Given the description of an element on the screen output the (x, y) to click on. 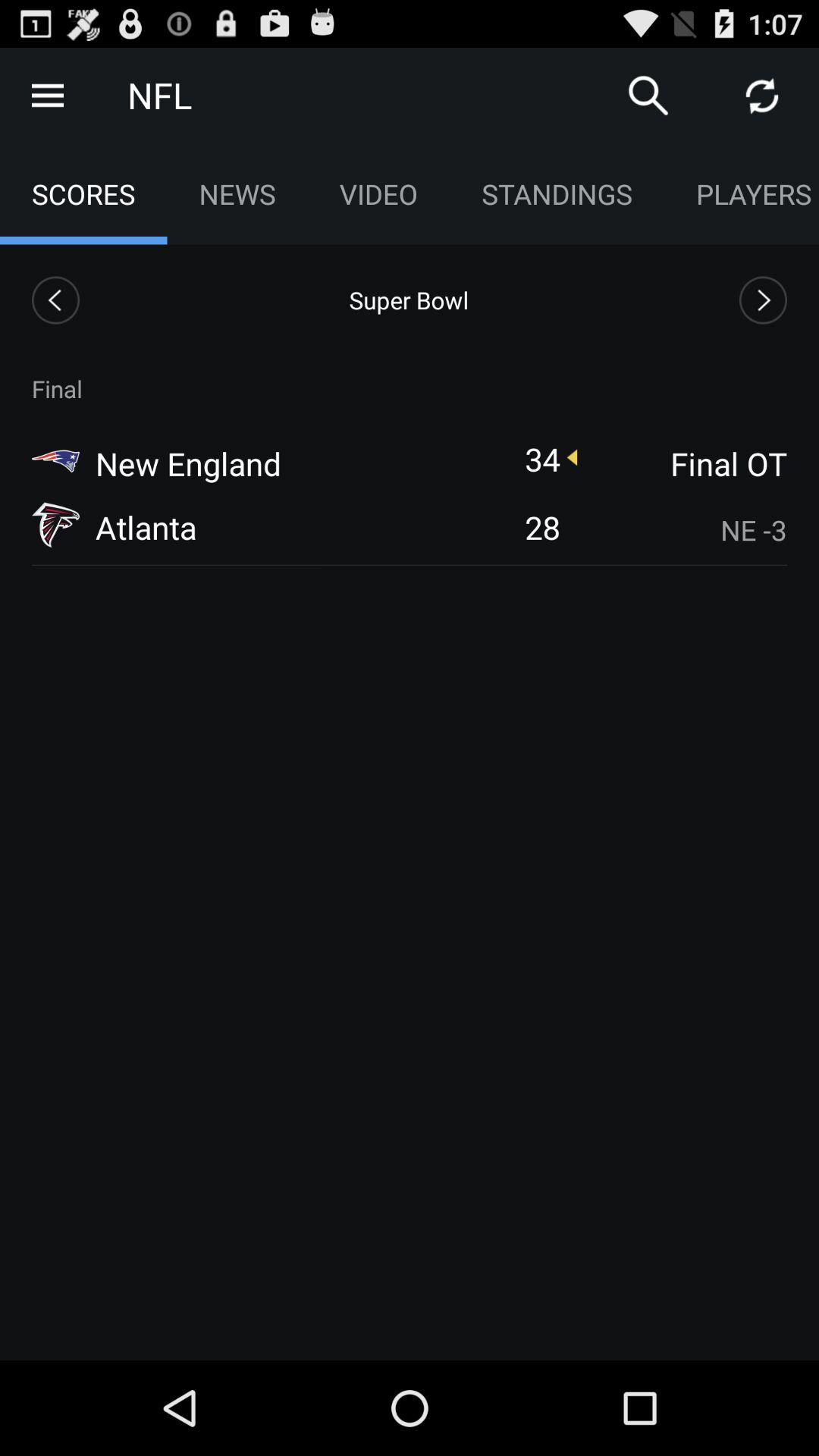
refresh (762, 95)
